Given the description of an element on the screen output the (x, y) to click on. 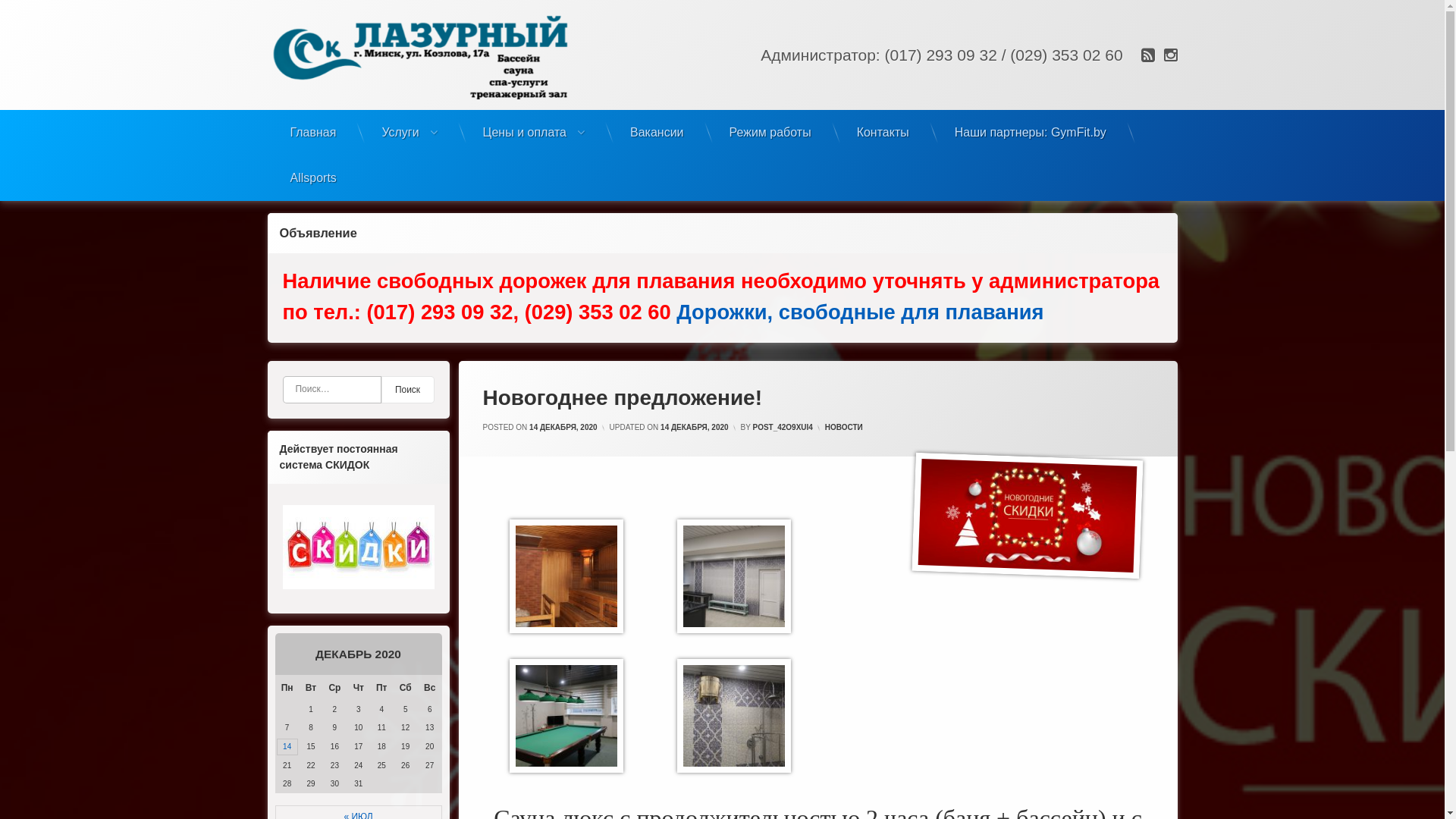
Instagram Element type: text (1168, 54)
14 Element type: text (286, 746)
Allsports Element type: text (312, 178)
RSS Element type: text (1149, 54)
POST_42O9XUI4 Element type: text (782, 427)
